Given the description of an element on the screen output the (x, y) to click on. 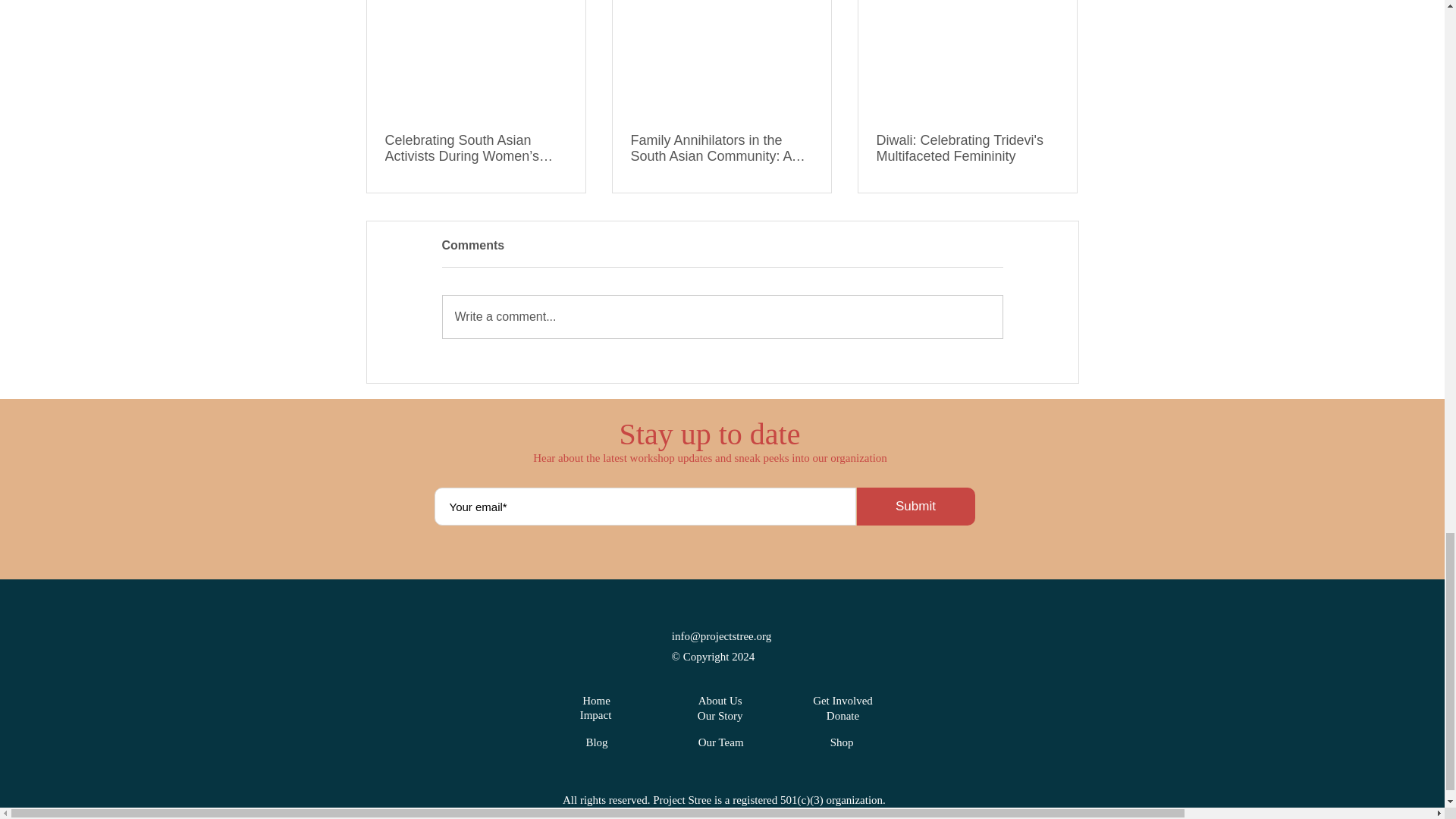
Submit (916, 506)
Write a comment... (722, 316)
Diwali: Celebrating Tridevi's Multifaceted Femininity (967, 148)
